Given the description of an element on the screen output the (x, y) to click on. 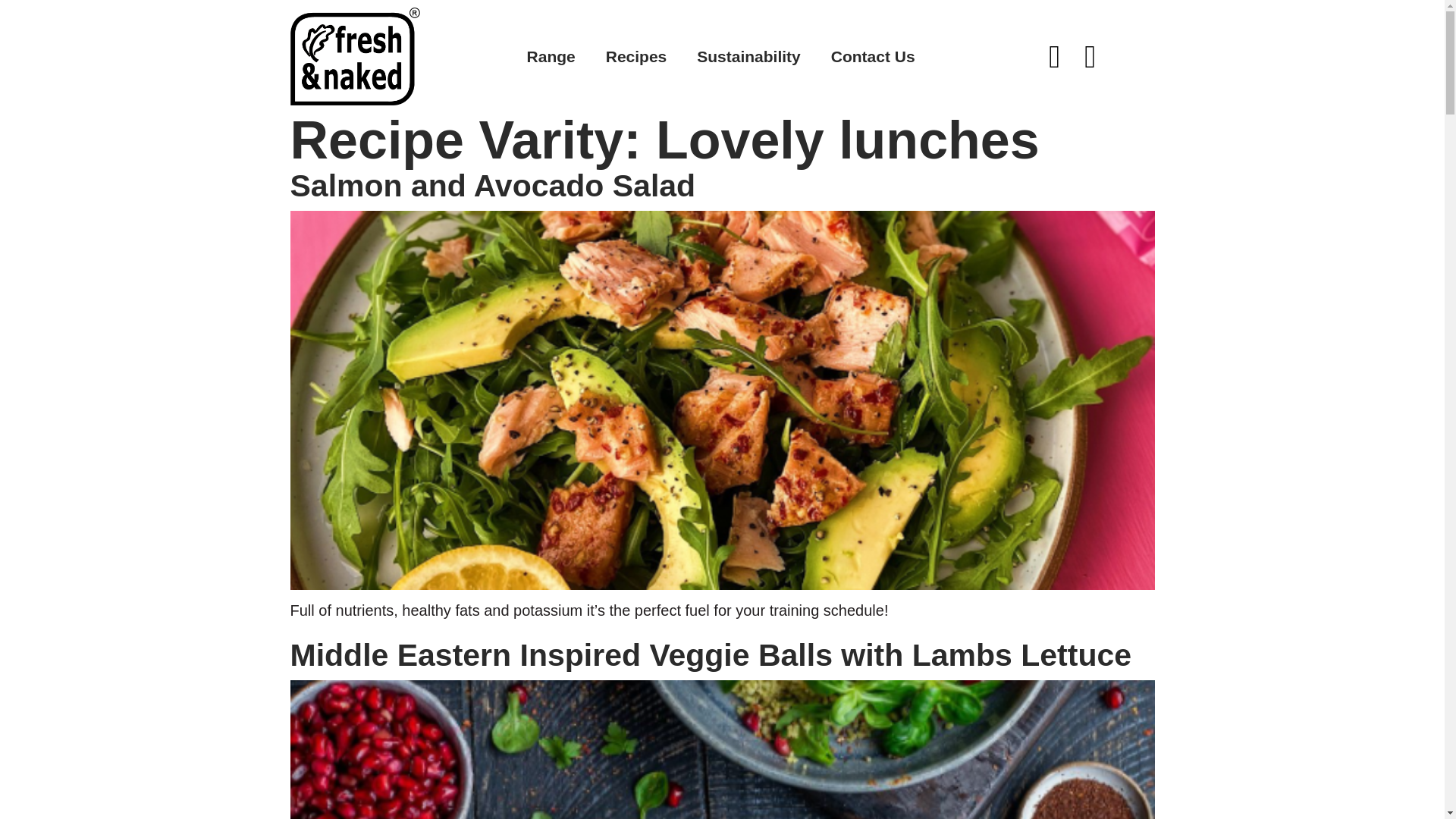
Recipes (636, 56)
Middle Eastern Inspired Veggie Balls with Lambs Lettuce (710, 655)
Sustainability (748, 56)
Contact Us (872, 56)
Range (551, 56)
Salmon and Avocado Salad (492, 185)
